Given the description of an element on the screen output the (x, y) to click on. 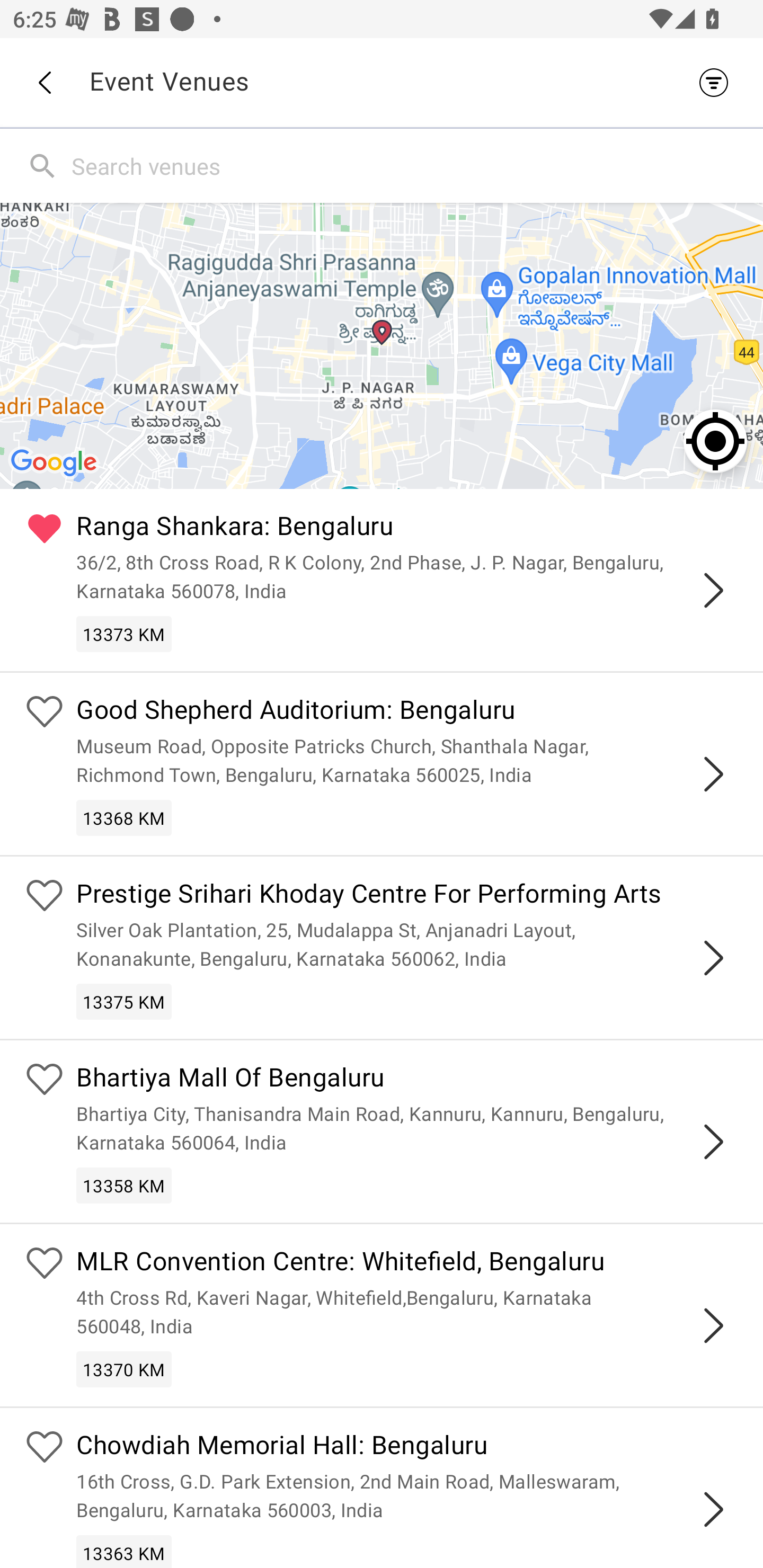
Back Event Venues Filter (381, 82)
Filter (718, 82)
Back (44, 82)
Search venues (413, 165)
Google Map Ranga Shankara: Bengaluru (381, 345)
Ranga Shankara: Bengaluru (406, 528)
 (713, 590)
13373 KM (123, 634)
Good Shepherd Auditorium: Bengaluru (406, 711)
 (713, 773)
13368 KM (123, 817)
Prestige Srihari Khoday Centre For Performing Arts (406, 894)
 (713, 957)
13375 KM (123, 1001)
Bhartiya Mall Of Bengaluru (406, 1079)
 (713, 1141)
13358 KM (123, 1186)
MLR Convention Centre: Whitefield, Bengaluru (406, 1263)
 (713, 1325)
13370 KM (123, 1369)
Chowdiah Memorial Hall: Bengaluru (406, 1446)
 (713, 1508)
13363 KM (123, 1551)
